Given the description of an element on the screen output the (x, y) to click on. 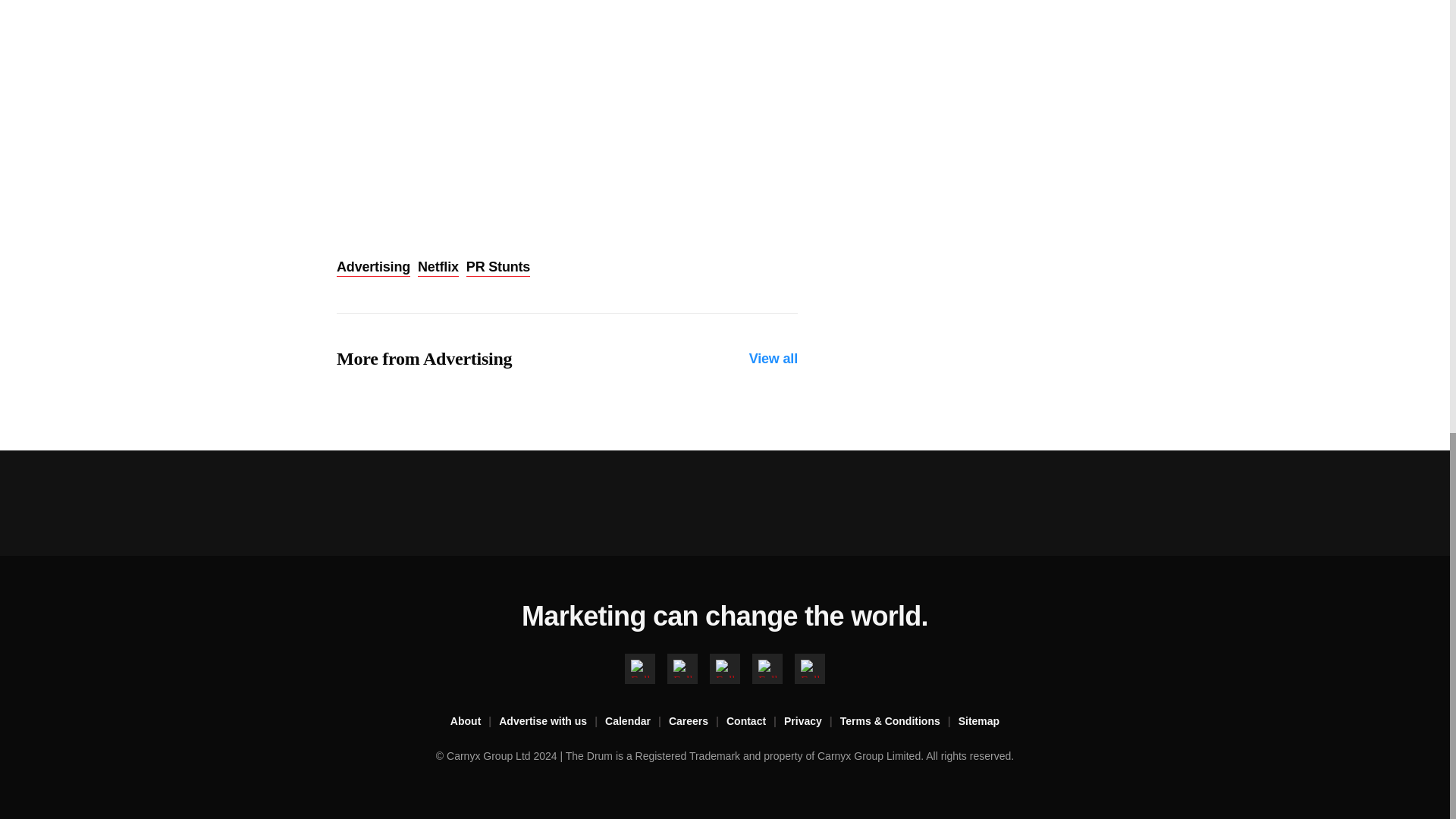
Advertising (373, 267)
PR Stunts (497, 267)
Calendar (636, 721)
About (474, 721)
Netflix (437, 267)
View all (773, 358)
Advertise with us (552, 721)
Careers (697, 721)
